Given the description of an element on the screen output the (x, y) to click on. 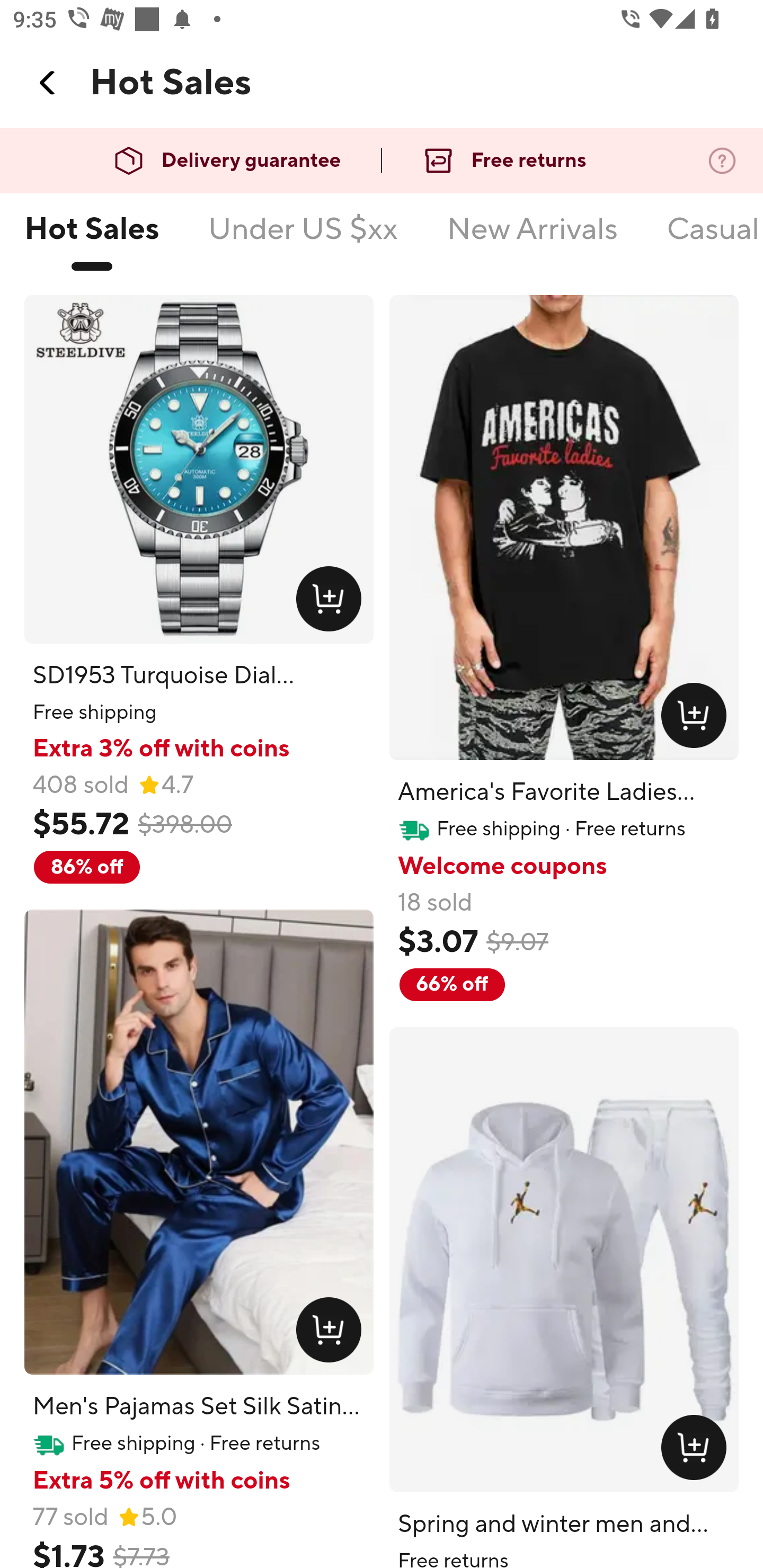
 (48, 82)
